Given the description of an element on the screen output the (x, y) to click on. 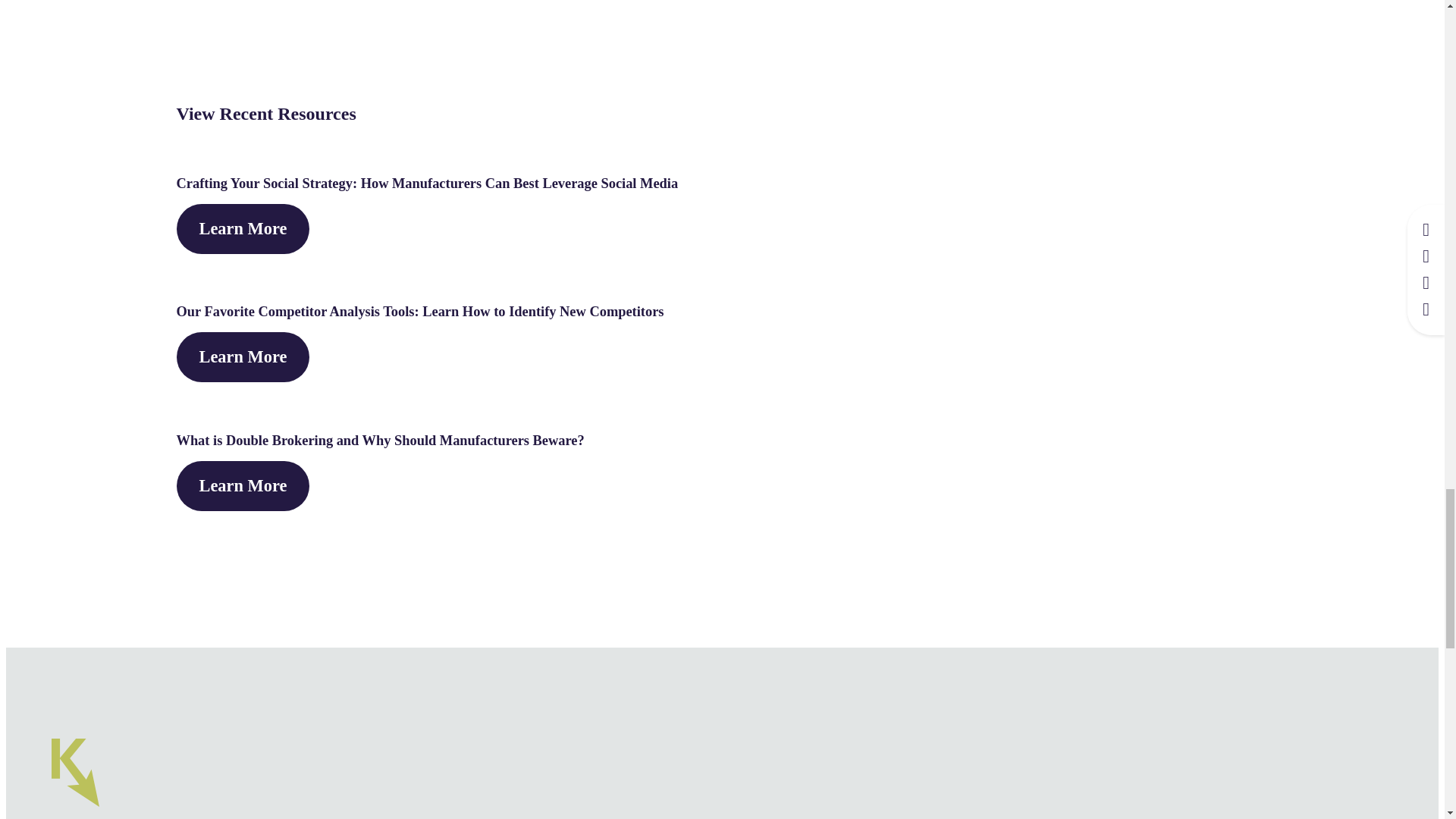
Learn More (242, 357)
Learn More (242, 228)
Learn More (242, 486)
